Given the description of an element on the screen output the (x, y) to click on. 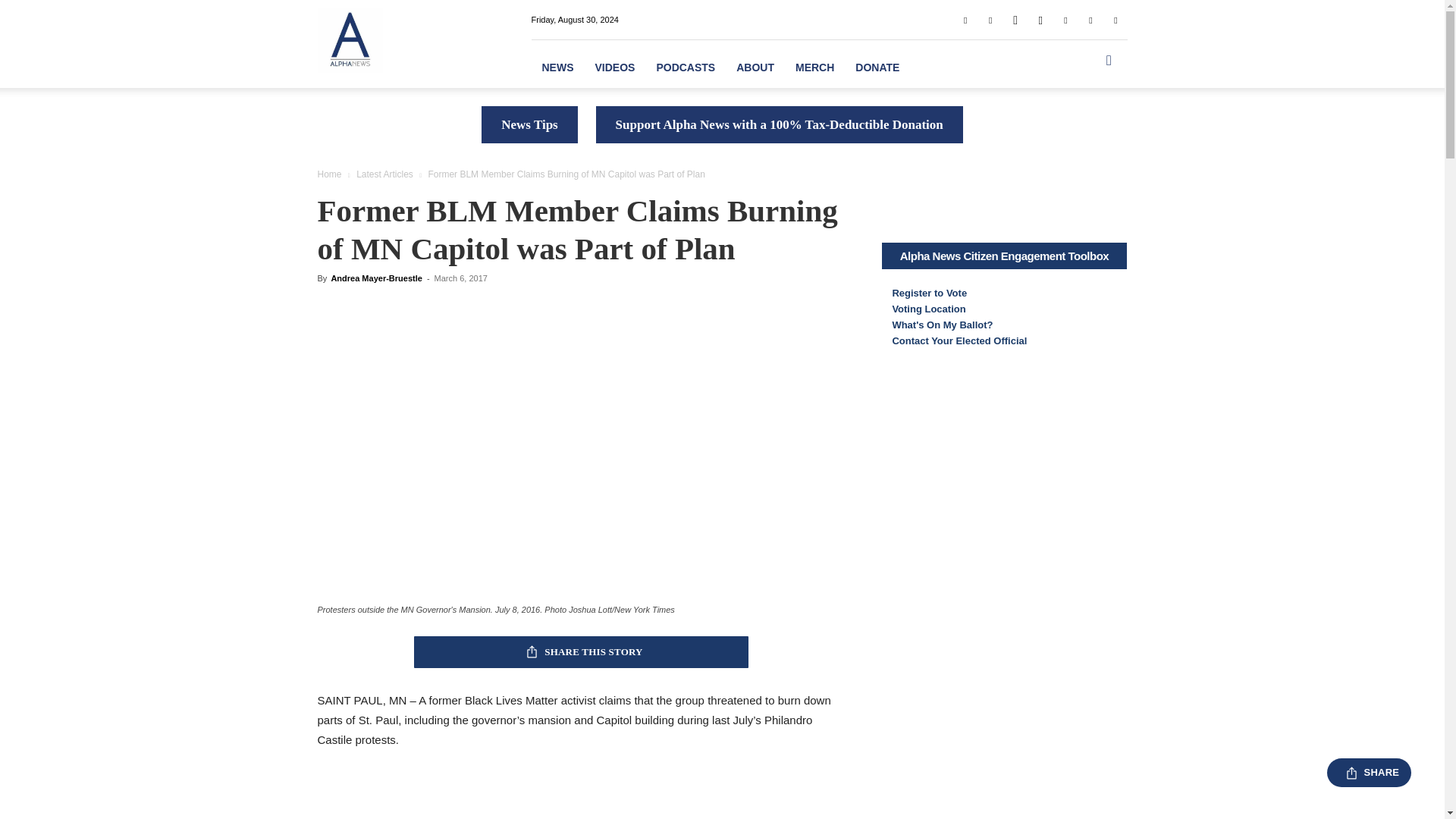
Telegram (1065, 19)
Youtube (1114, 19)
NEWS (557, 67)
Alpha News (349, 39)
GETTR (1015, 19)
Twitter (1090, 19)
Facebook (964, 19)
Instagram (1040, 19)
Gab (989, 19)
